Given the description of an element on the screen output the (x, y) to click on. 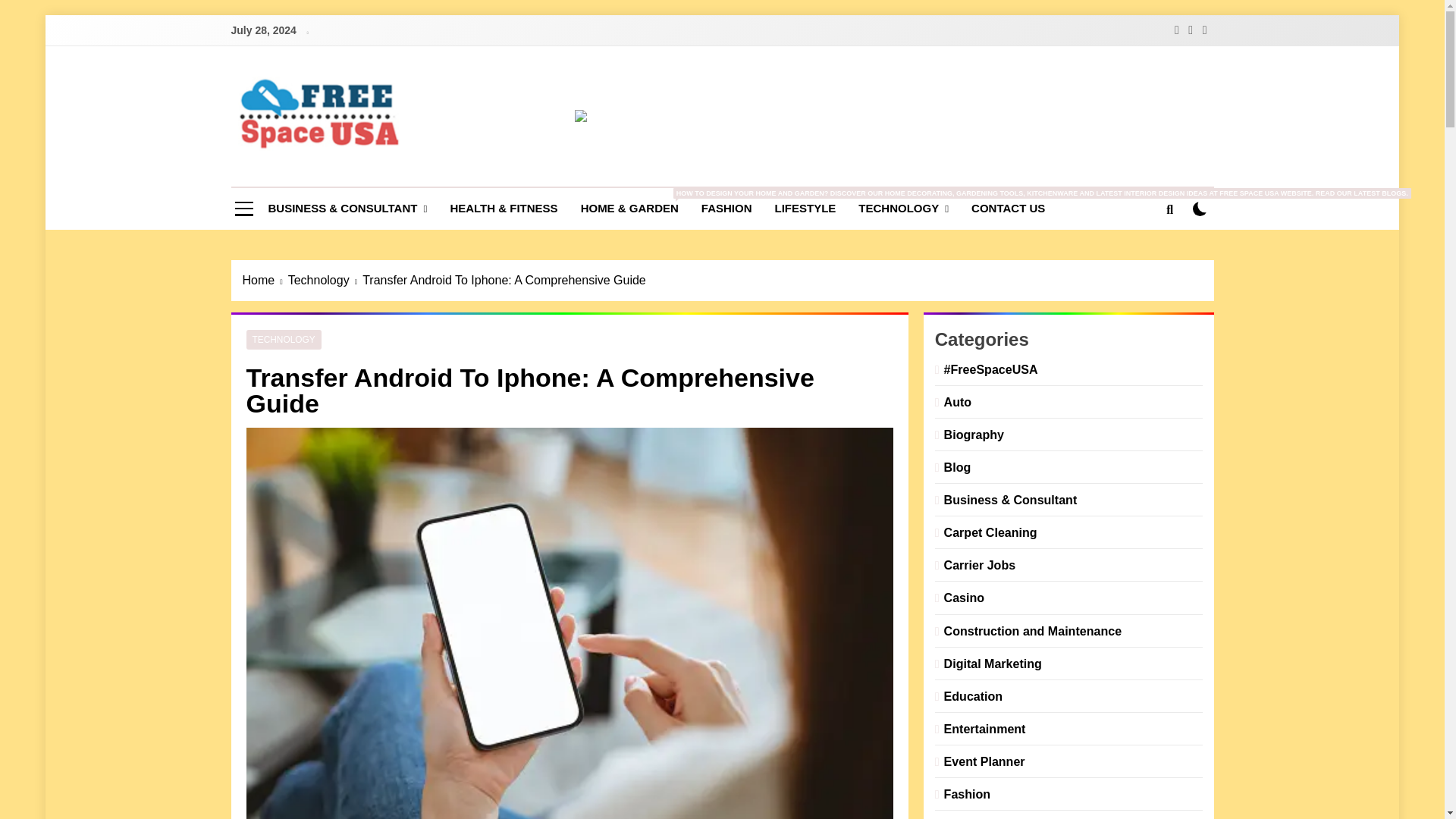
Free Space USA (379, 172)
on (1199, 208)
